Given the description of an element on the screen output the (x, y) to click on. 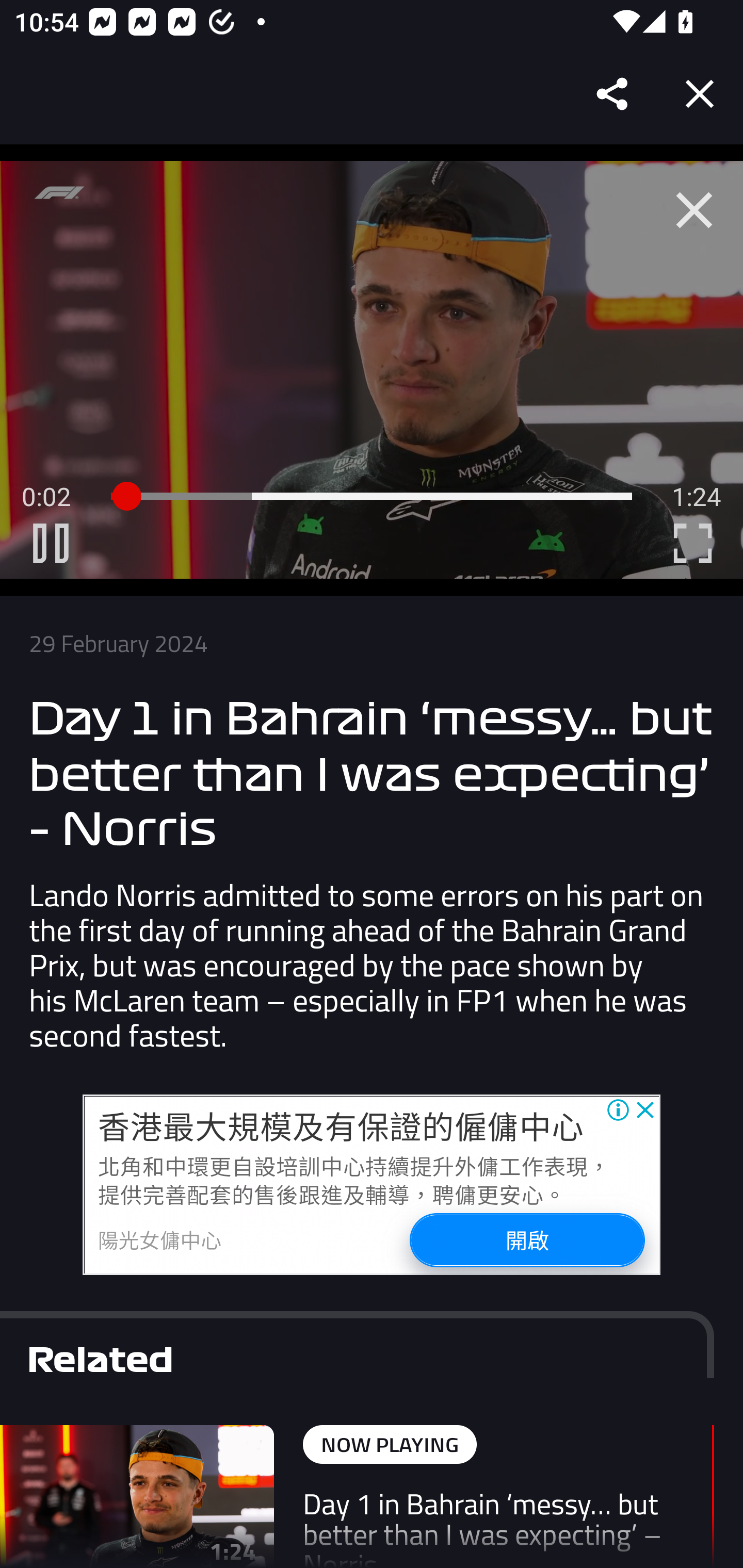
Share (612, 93)
Close (699, 93)
 Close (693, 210)
B Pause (50, 543)
C Enter Fullscreen (692, 543)
香港最大規模及有保證的僱傭中心 (340, 1126)
開啟 (526, 1240)
陽光女傭中心 (160, 1239)
